Given the description of an element on the screen output the (x, y) to click on. 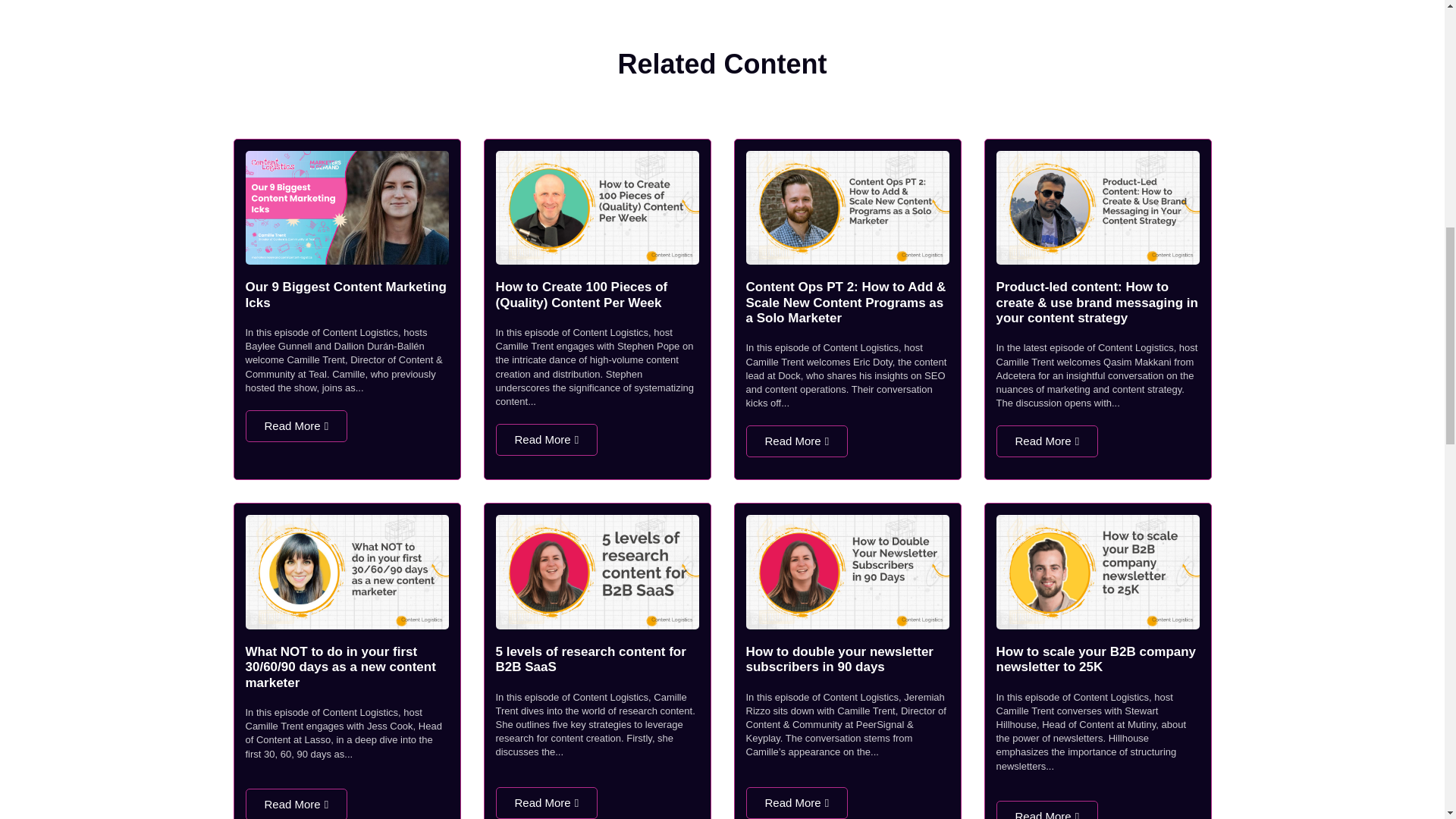
Our 9 Biggest Content Marketing Icks (346, 294)
Read More (547, 803)
Read More (1047, 441)
Read More (796, 441)
Read More (796, 803)
Read More (296, 426)
Read More (296, 803)
5 levels of research content for B2B SaaS (590, 659)
How to double your newsletter subscribers in 90 days (839, 659)
Read More (547, 439)
